Given the description of an element on the screen output the (x, y) to click on. 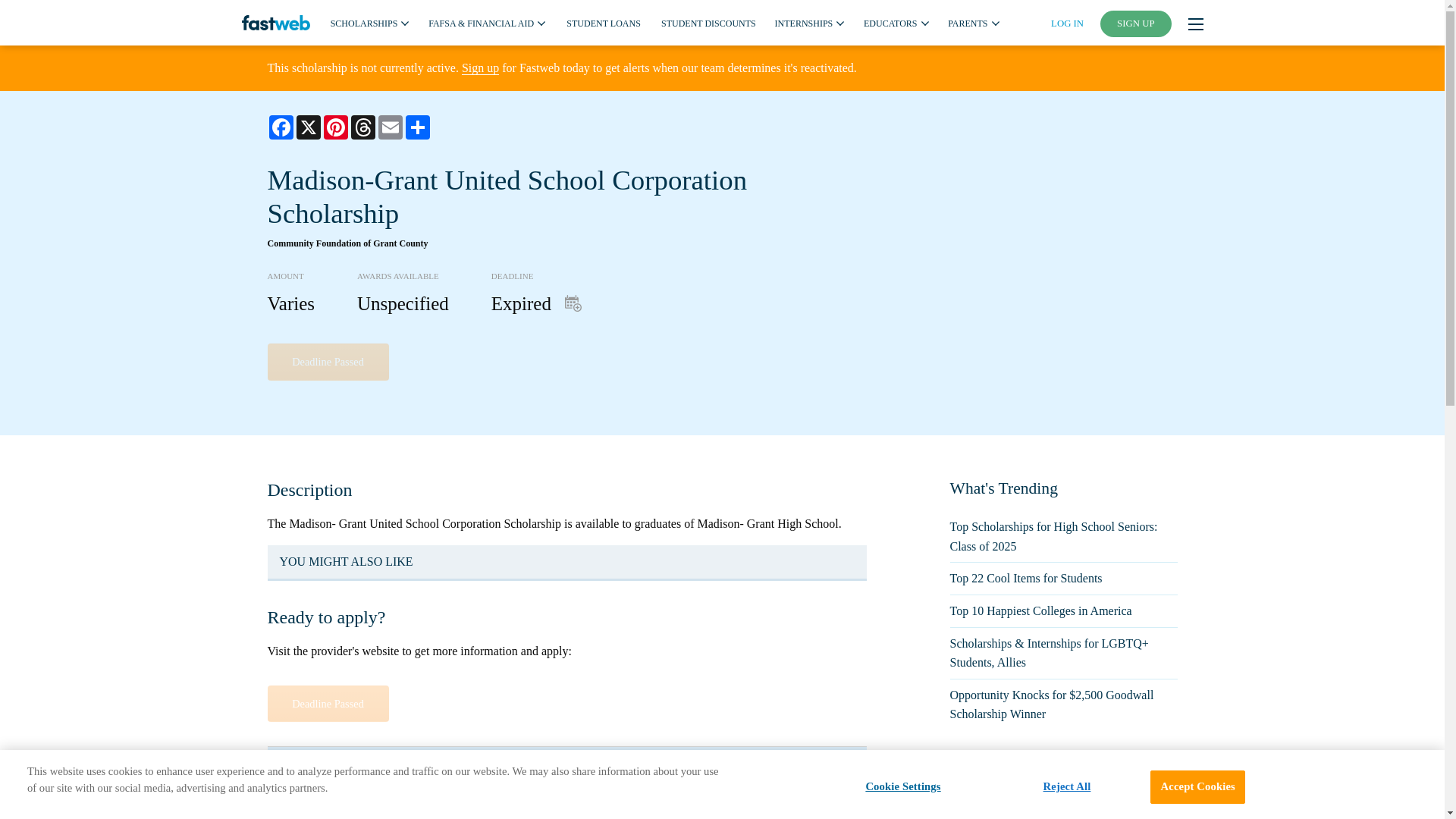
SIGN UP (1136, 23)
STUDENT DISCOUNTS (708, 22)
LOG IN (1067, 23)
STUDENT LOANS (603, 22)
